Given the description of an element on the screen output the (x, y) to click on. 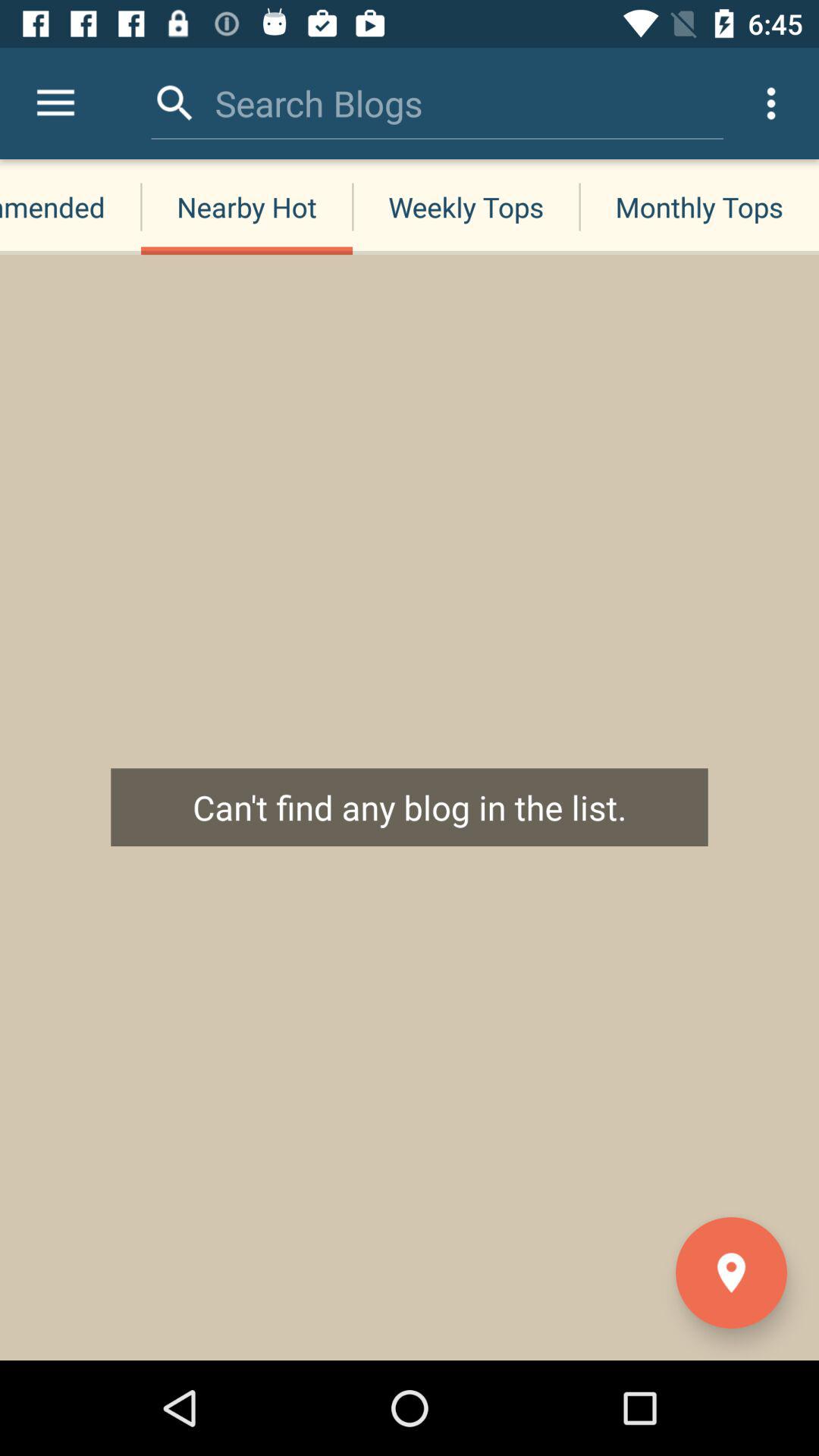
turn on the icon to the left of the monthly tops item (318, 103)
